Given the description of an element on the screen output the (x, y) to click on. 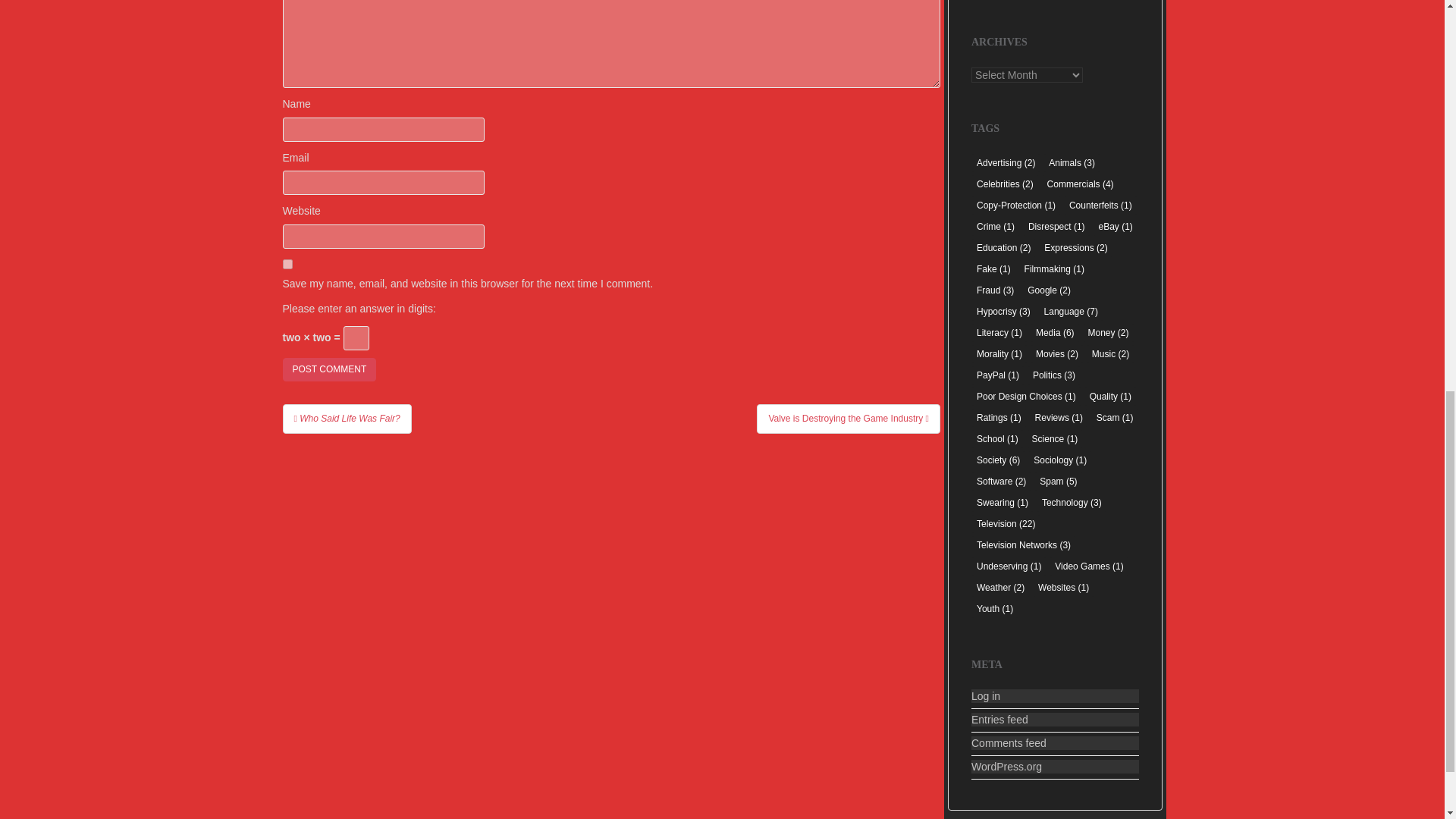
Post Comment (328, 369)
Valve is Destroying the Game Industry (848, 418)
yes (287, 264)
Post Comment (328, 369)
Who Said Life Was Fair? (346, 418)
